Given the description of an element on the screen output the (x, y) to click on. 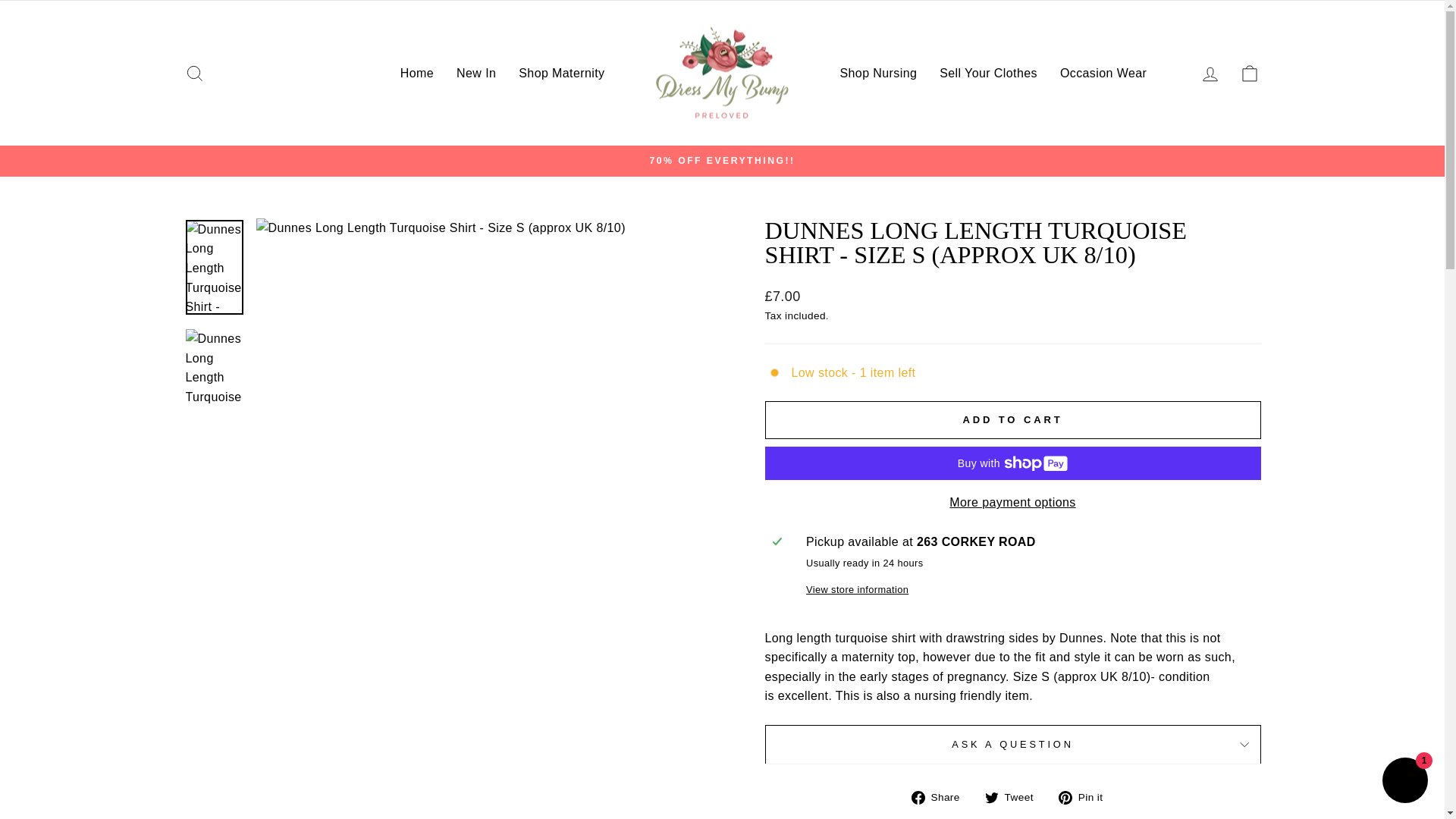
Shopify online store chat (1404, 781)
Search (194, 72)
New In (475, 72)
Pin on Pinterest (1085, 796)
Tweet on Twitter (1015, 796)
Home (416, 72)
Shop Maternity (560, 72)
Share on Facebook (941, 796)
